Given the description of an element on the screen output the (x, y) to click on. 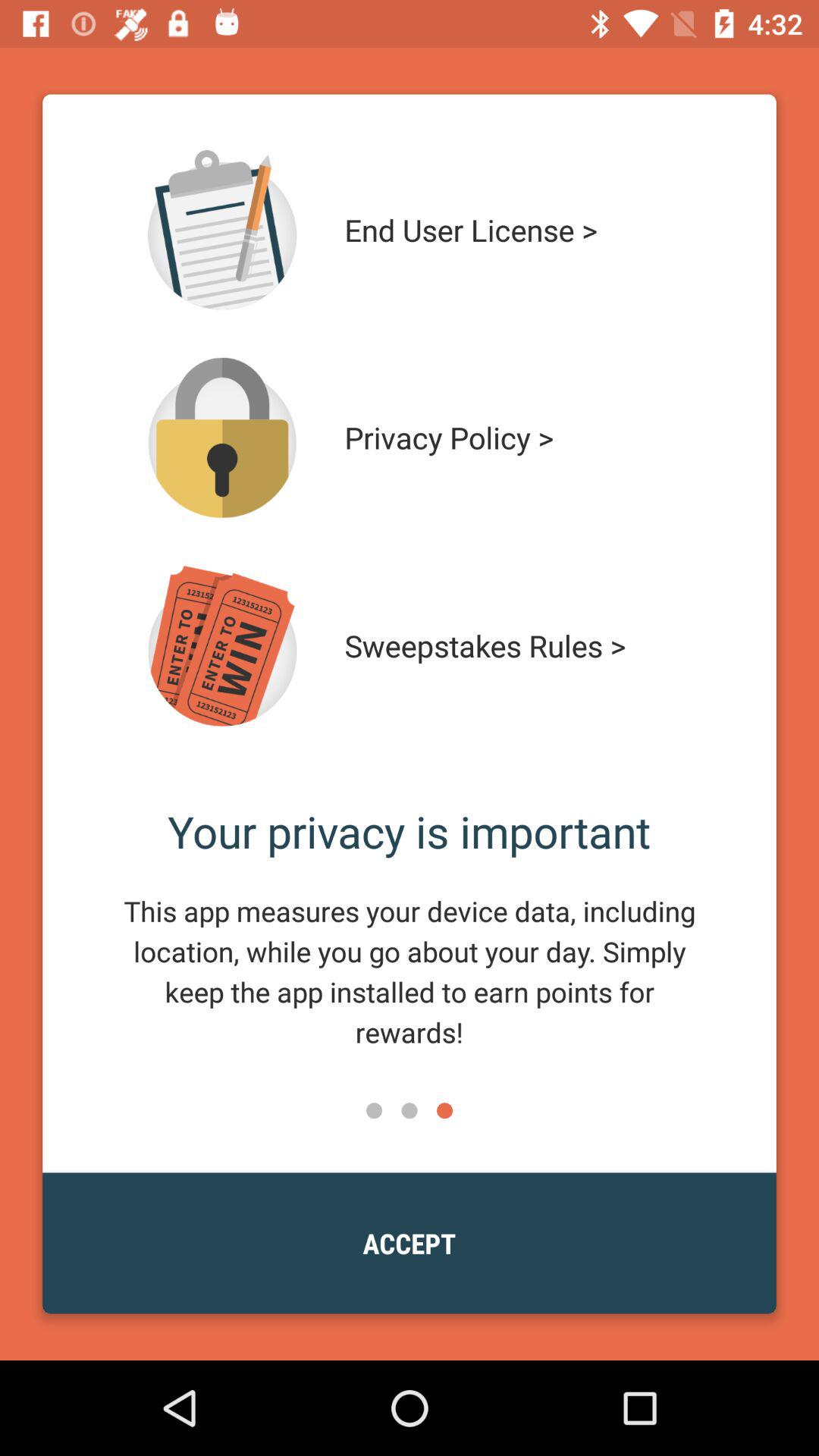
opens the privacy policy (222, 437)
